Given the description of an element on the screen output the (x, y) to click on. 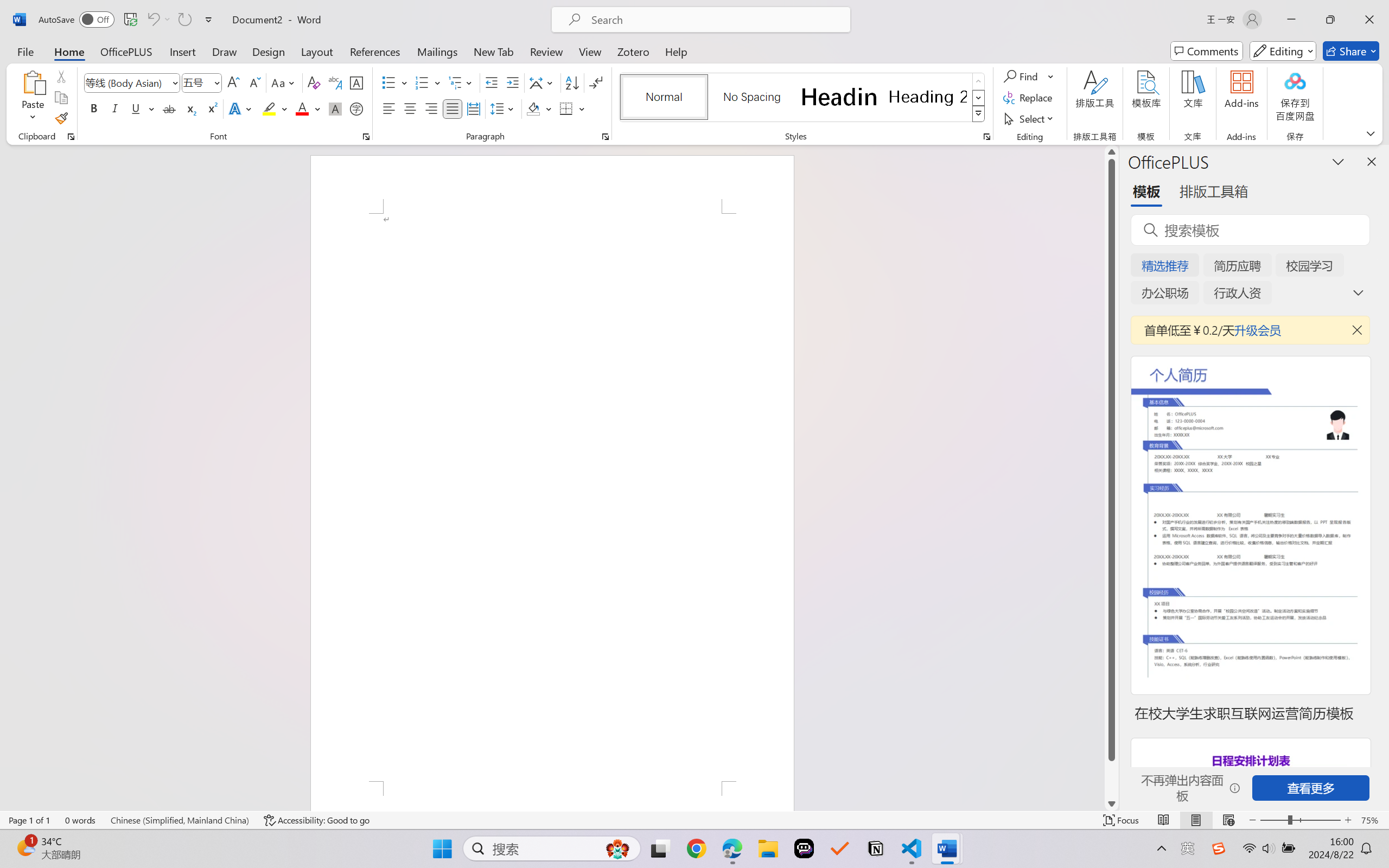
Line up (1111, 151)
Subscript (190, 108)
Clear Formatting (313, 82)
Center (409, 108)
Font (126, 82)
Shading (539, 108)
Heading 1 (839, 96)
Share (1350, 51)
Text Highlight Color Yellow (269, 108)
Comments (1206, 50)
Decrease Indent (491, 82)
Font (132, 82)
Restore Down (1330, 19)
